Given the description of an element on the screen output the (x, y) to click on. 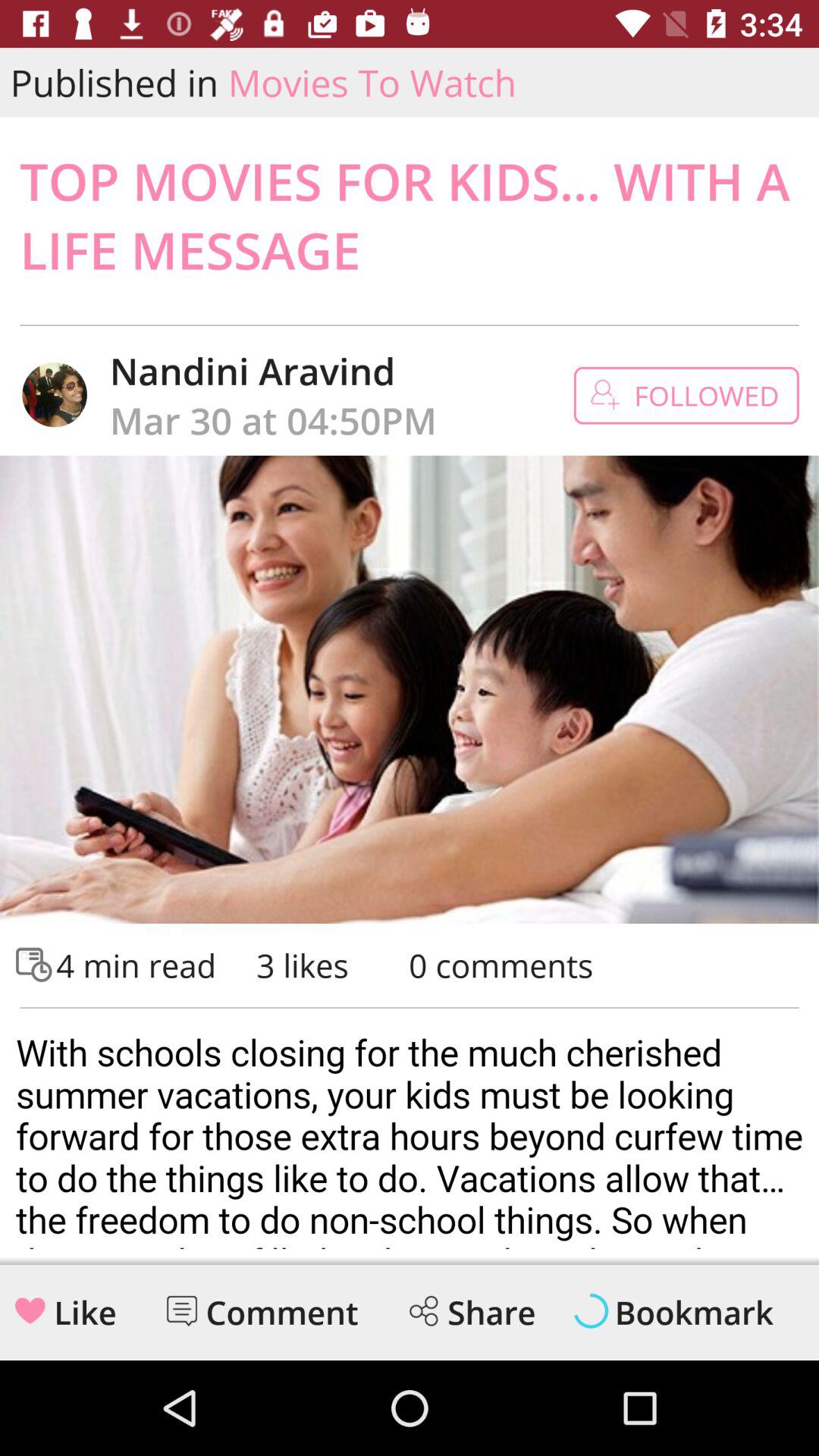
share icon (423, 1310)
